Given the description of an element on the screen output the (x, y) to click on. 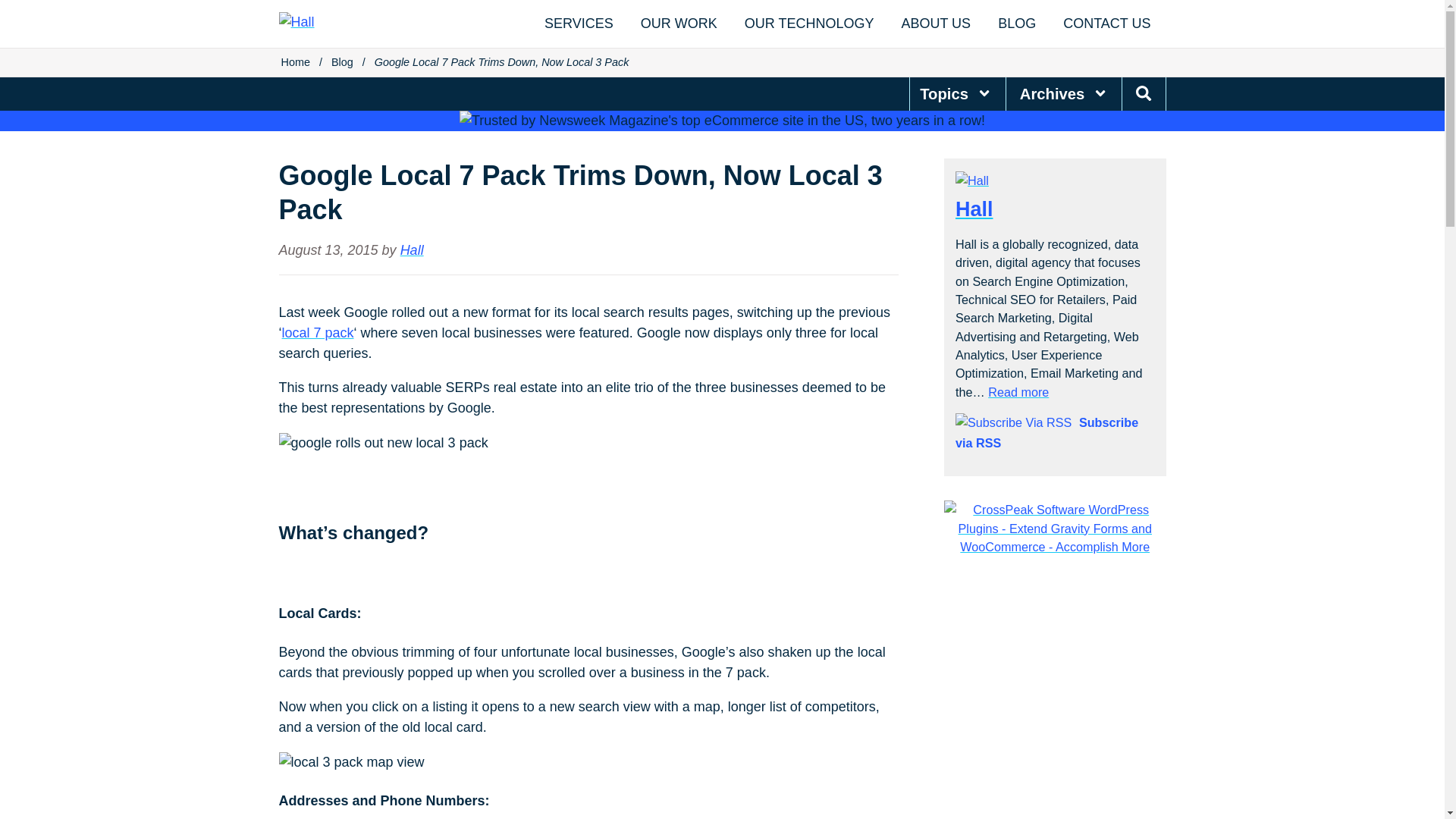
About Hall Internet Marketing (935, 23)
Hall Internet Marketing Blog (1016, 23)
Portfolio (679, 23)
OUR WORK (679, 23)
Our Proprietary Technology (809, 23)
Learn About What Hall Does (578, 23)
SERVICES (578, 23)
